Given the description of an element on the screen output the (x, y) to click on. 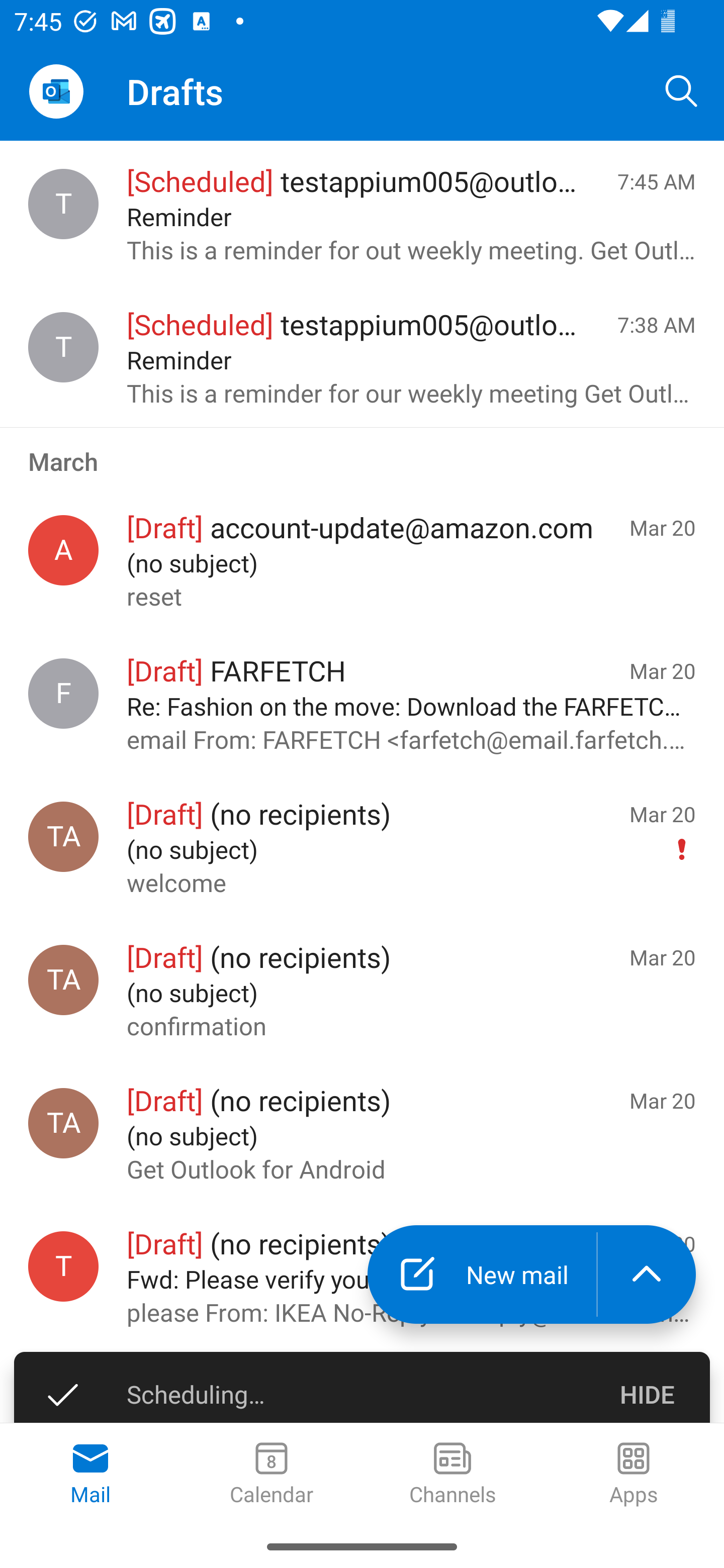
Search, ,  (681, 90)
Open Navigation Drawer (55, 91)
account-update@amazon.com (63, 549)
FARFETCH, testappium002@outlook.com (63, 693)
Test Appium, testappium002@outlook.com (63, 836)
Test Appium, testappium002@outlook.com (63, 979)
Test Appium, testappium002@outlook.com (63, 1123)
testappium002@outlook.com (63, 1265)
Test Appium, testappium002@outlook.com (63, 1398)
Calendar (271, 1474)
Channels (452, 1474)
Apps (633, 1474)
